Given the description of an element on the screen output the (x, y) to click on. 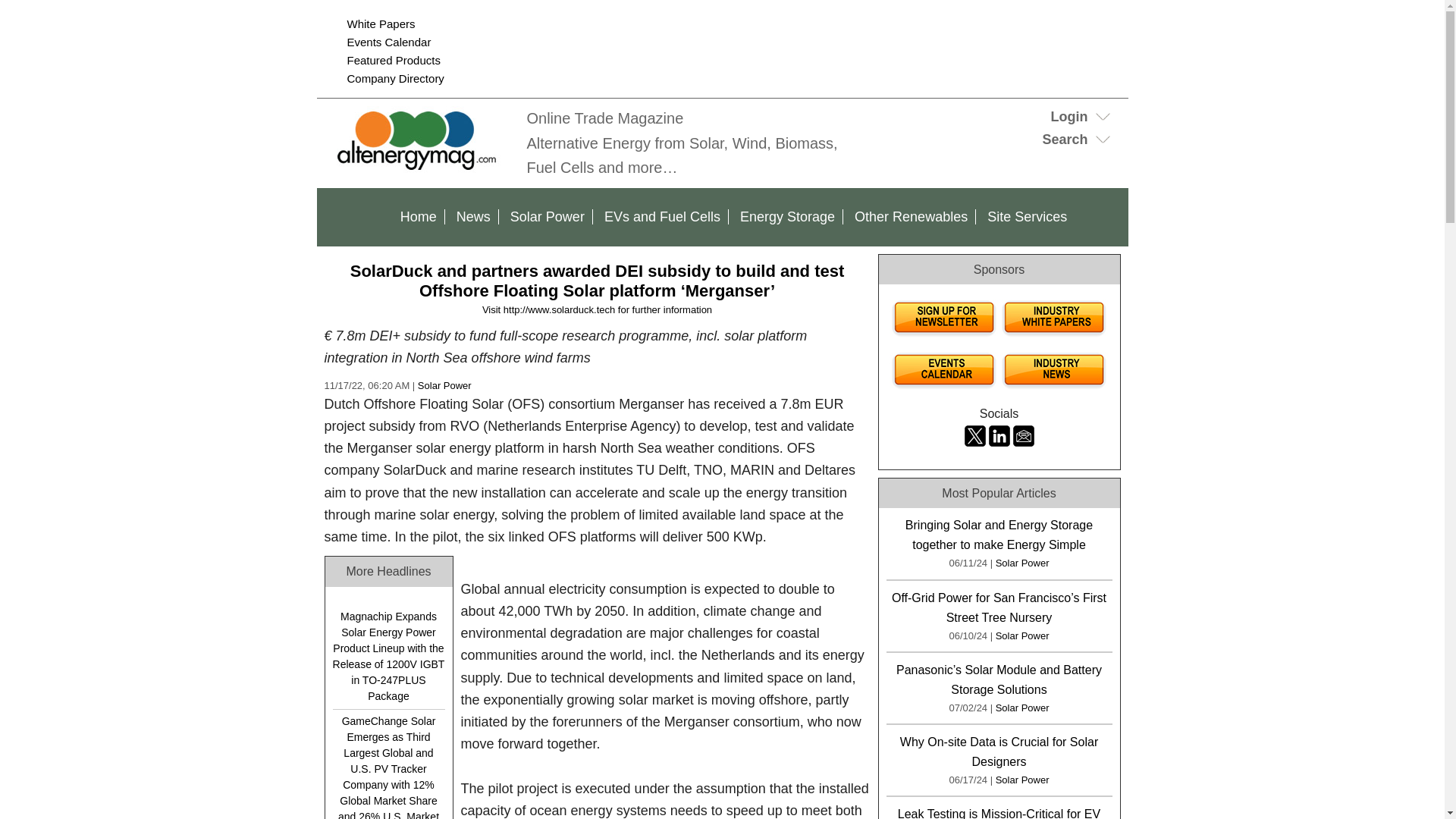
News (472, 217)
Site Services (1026, 217)
Featured Products (394, 60)
AltEnergyMag (418, 167)
Solar Power (444, 384)
Solar Power (547, 217)
Events Calendar (388, 42)
Home (418, 217)
Other Renewables (911, 217)
White Papers (380, 23)
EVs and Fuel Cells (662, 217)
Energy Storage (787, 217)
Company Directory (395, 78)
